Given the description of an element on the screen output the (x, y) to click on. 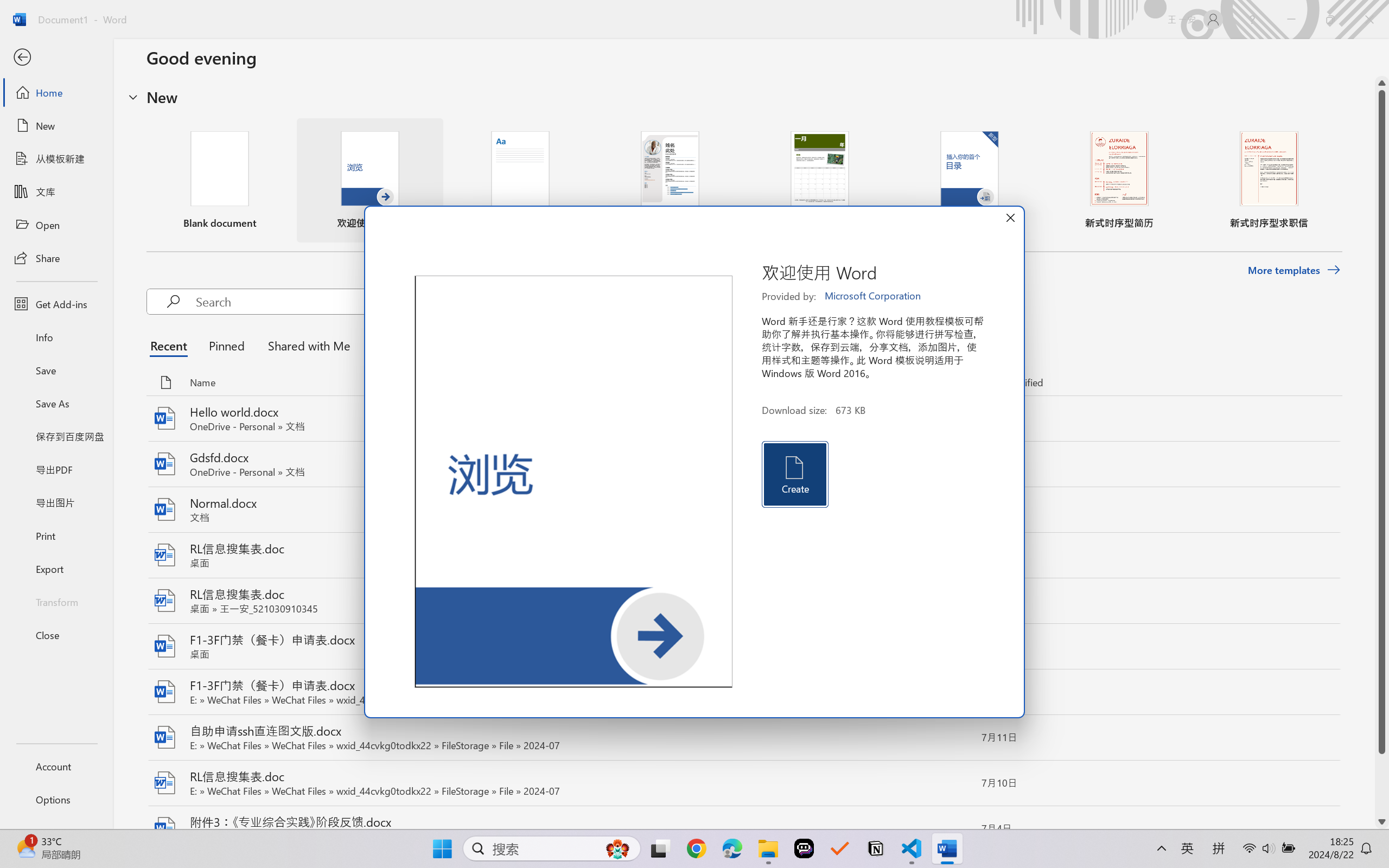
Line down (1382, 821)
Hide or show region (133, 96)
Recent (171, 345)
Transform (56, 601)
Print (56, 535)
Save As (56, 403)
Page down (1382, 784)
